Given the description of an element on the screen output the (x, y) to click on. 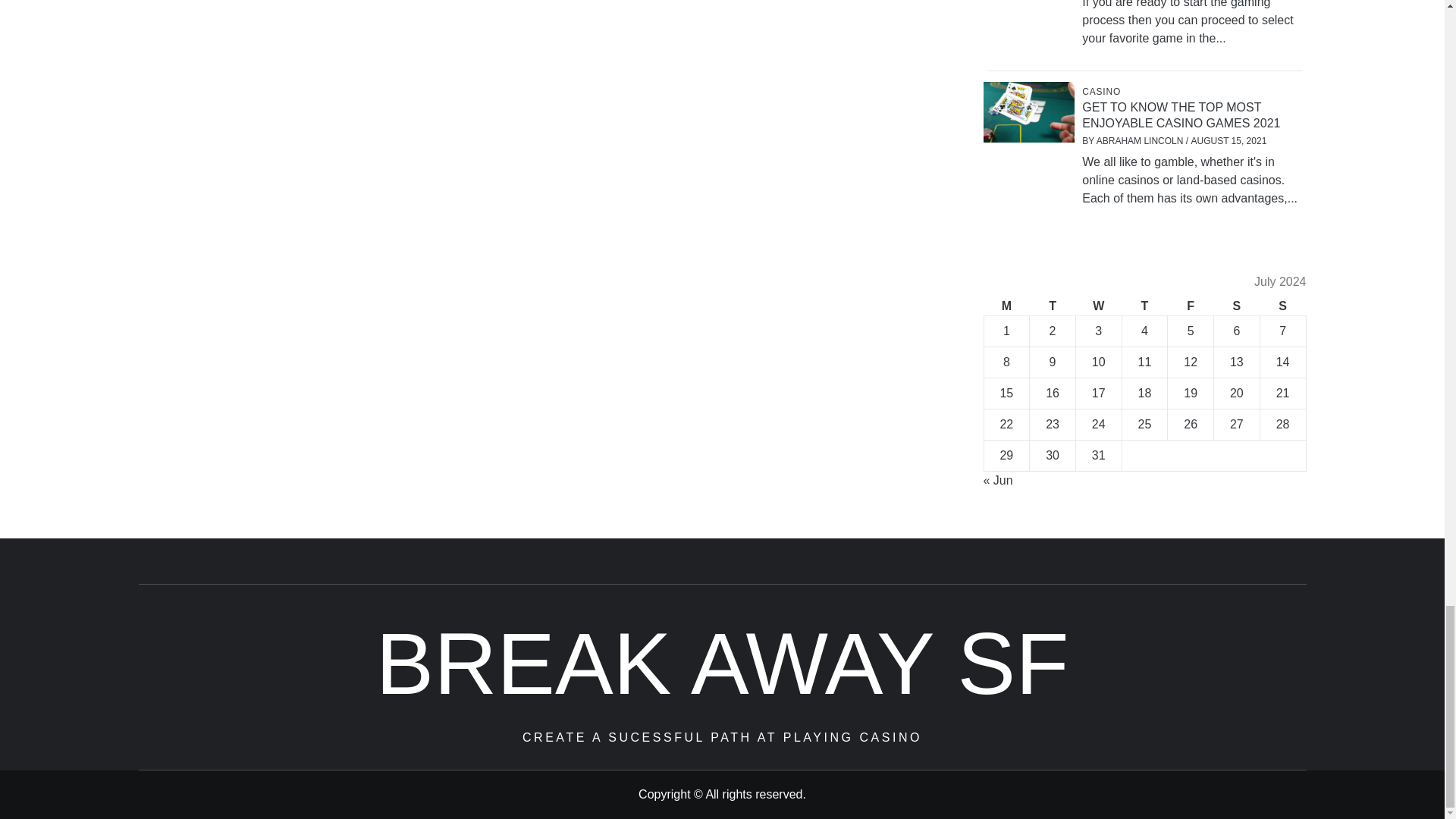
Saturday (1237, 306)
Sunday (1282, 306)
Tuesday (1052, 306)
Friday (1190, 306)
Thursday (1144, 306)
Wednesday (1098, 306)
Monday (1006, 306)
